Given the description of an element on the screen output the (x, y) to click on. 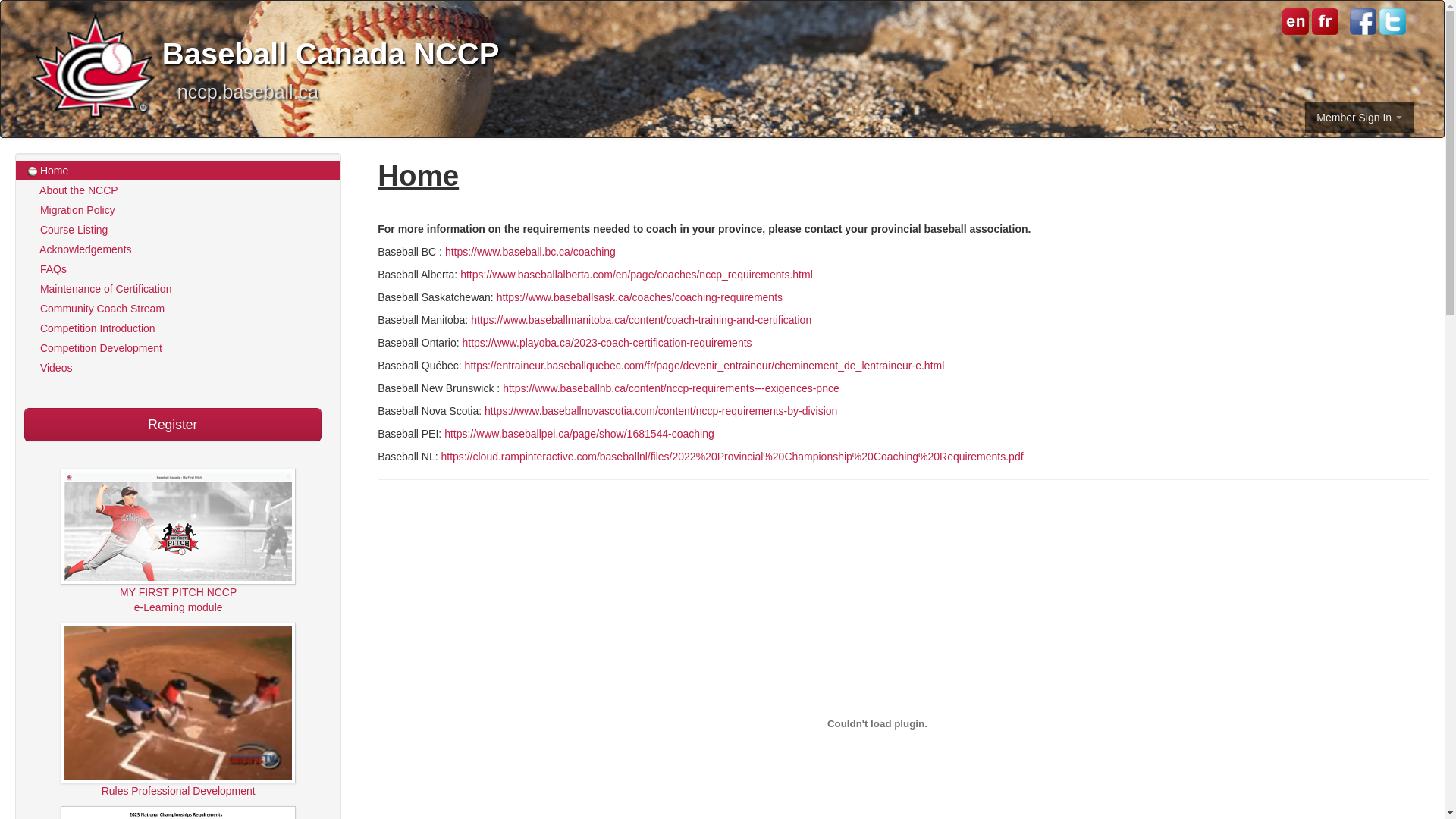
Competition Introduction Element type: text (177, 328)
Francais Element type: hover (1323, 20)
Videos Element type: text (177, 367)
https://www.playoba.ca/2023-coach-certification-requirements Element type: text (606, 342)
Register Element type: text (172, 424)
Member Sign In Element type: text (1359, 117)
 on Facebook Element type: hover (1362, 21)
 on Twitter Element type: hover (1392, 21)
Community Coach Stream Element type: text (177, 308)
https://www.baseball.bc.ca/coaching Element type: text (530, 251)
Competition Development Element type: text (177, 347)
FAQs Element type: text (177, 269)
Course Listing Element type: text (177, 229)
https://www.baseballpei.ca/page/show/1681544-coaching Element type: text (579, 433)
Baseball Canada NCCP
nccp.baseball.ca Element type: text (722, 50)
https://www.baseballsask.ca/coaches/coaching-requirements Element type: text (639, 297)
MY FIRST PITCH NCCP
e-Learning module Element type: text (177, 566)
About the NCCP Element type: text (177, 190)
English Element type: hover (1295, 20)
Maintenance of Certification Element type: text (177, 288)
Migration Policy Element type: text (177, 209)
Acknowledgements Element type: text (177, 249)
Rules Professional Development Element type: text (177, 746)
Home Element type: text (177, 170)
